Given the description of an element on the screen output the (x, y) to click on. 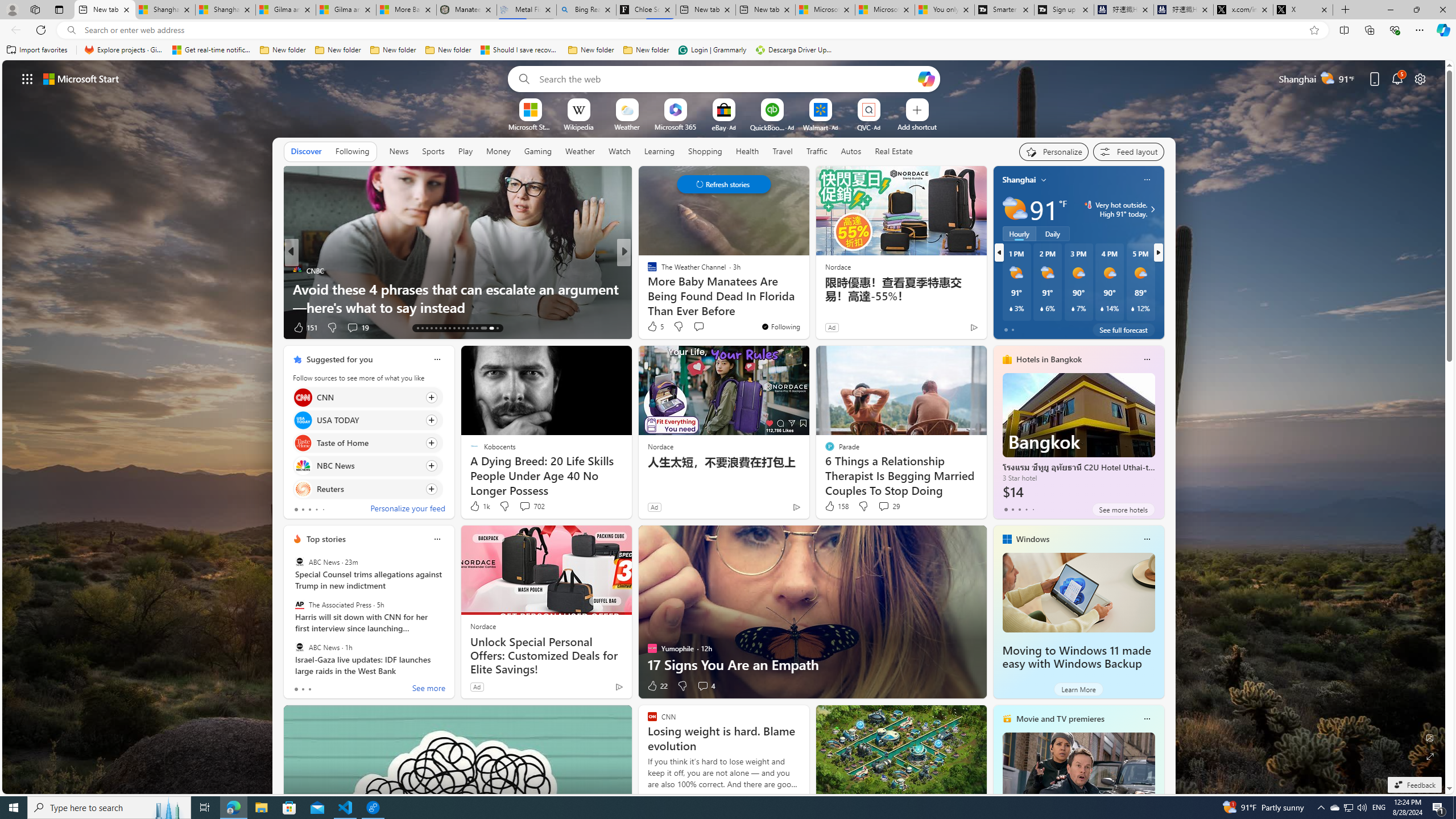
Login | Grammarly (712, 49)
Click to follow source Reuters (367, 488)
View comments 6 Comment (6, 327)
View comments 247 Comment (6, 327)
See full forecast (1123, 329)
Class: control (723, 184)
Hourly (1018, 233)
tab-4 (1032, 509)
